Given the description of an element on the screen output the (x, y) to click on. 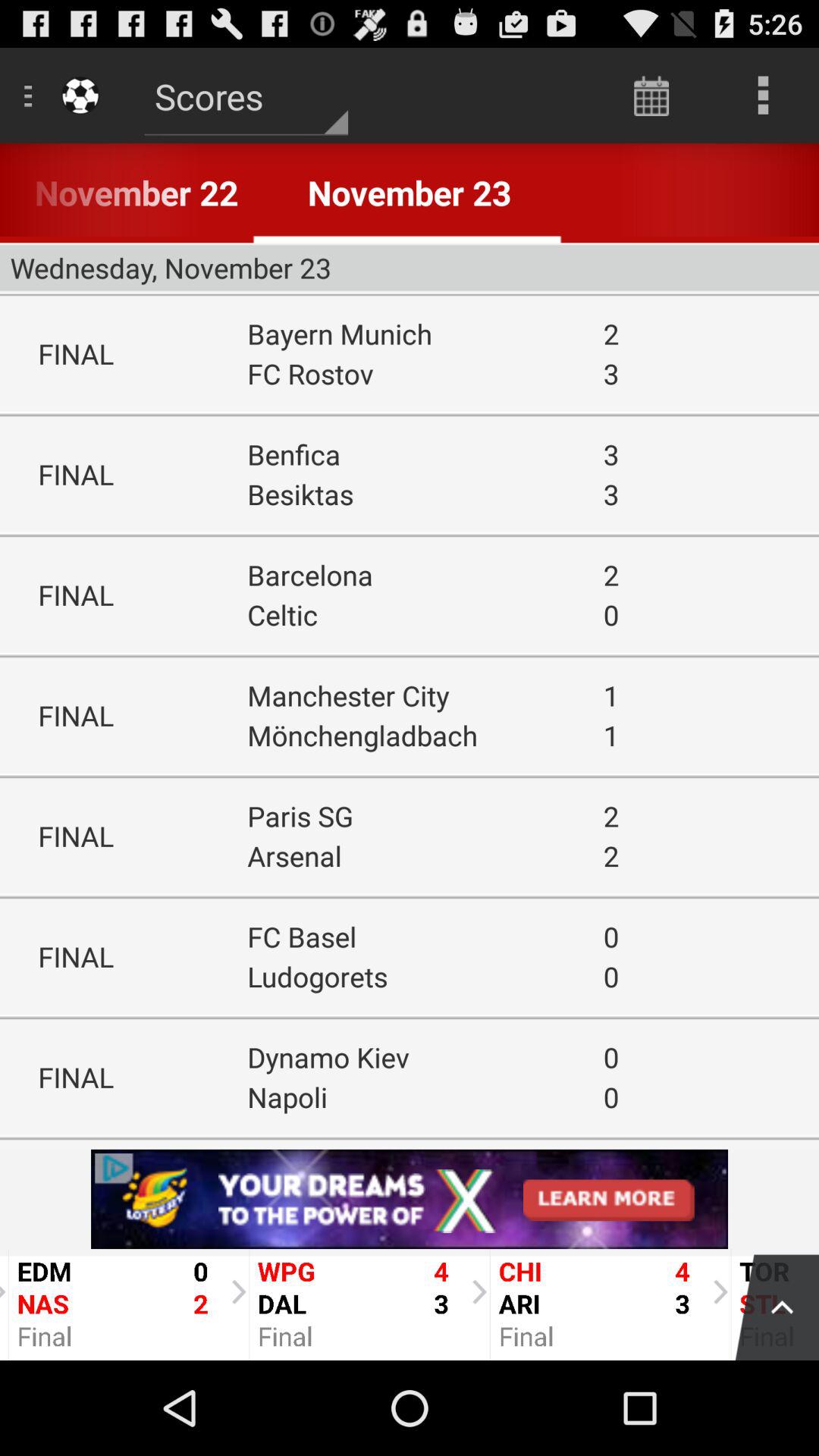
advertisement banner (409, 1198)
